Given the description of an element on the screen output the (x, y) to click on. 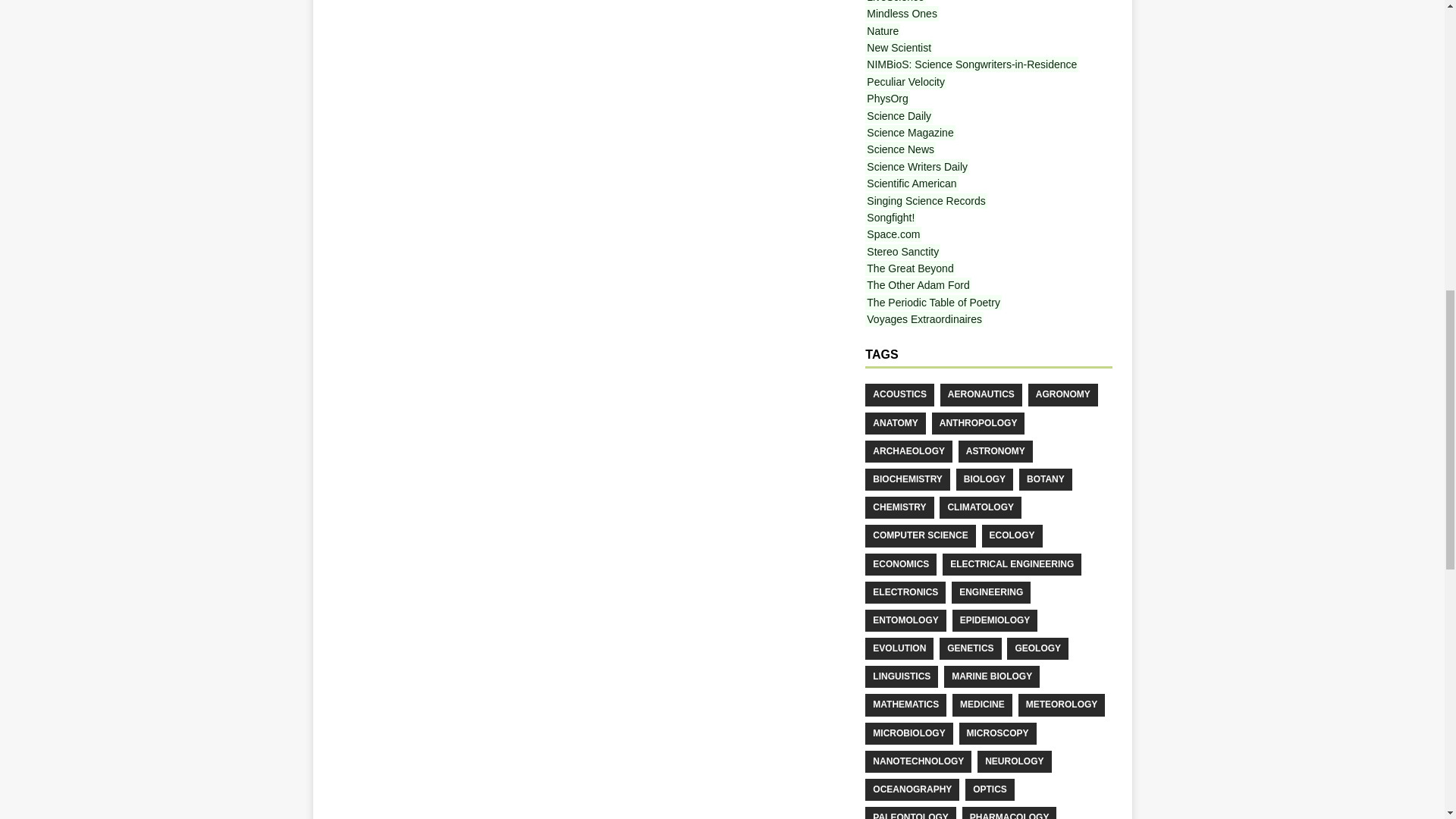
LiveScience (895, 2)
Science Daily (898, 115)
Nature (881, 30)
Mindless Ones (901, 13)
NIMBioS: Science Songwriters-in-Residence (971, 64)
PhysOrg (886, 98)
Science News (900, 149)
New Scientist (898, 47)
Science Magazine (909, 132)
Peculiar Velocity (905, 81)
